Given the description of an element on the screen output the (x, y) to click on. 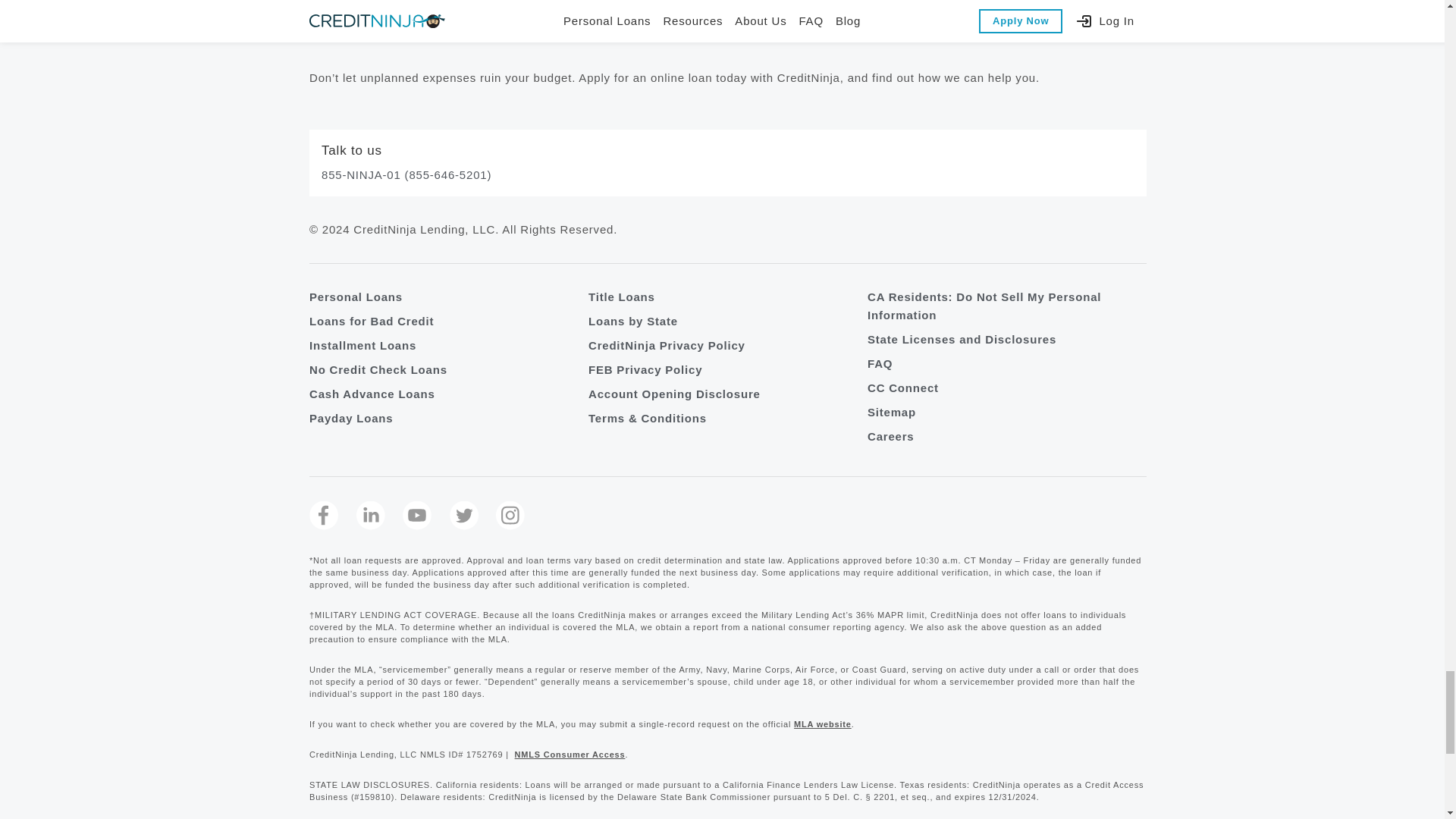
Instagram (510, 515)
Twitter (462, 515)
LinkedIn (370, 515)
YouTube (416, 515)
Facebook (322, 515)
